Given the description of an element on the screen output the (x, y) to click on. 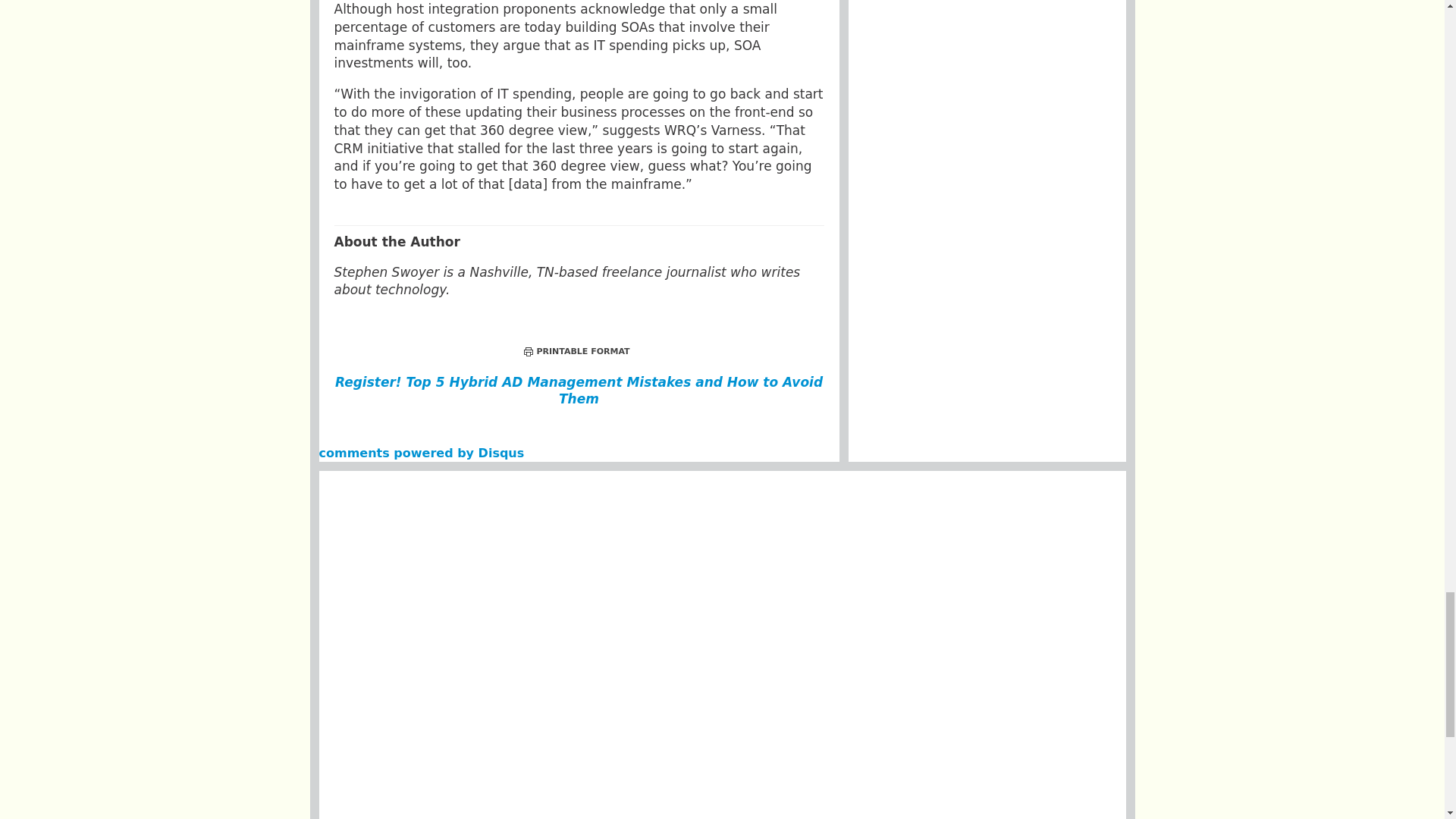
comments powered by Disqus (421, 452)
3rd party ad content (722, 731)
3rd party ad content (721, 597)
3rd party ad content (721, 517)
PRINTABLE FORMAT (576, 351)
